Given the description of an element on the screen output the (x, y) to click on. 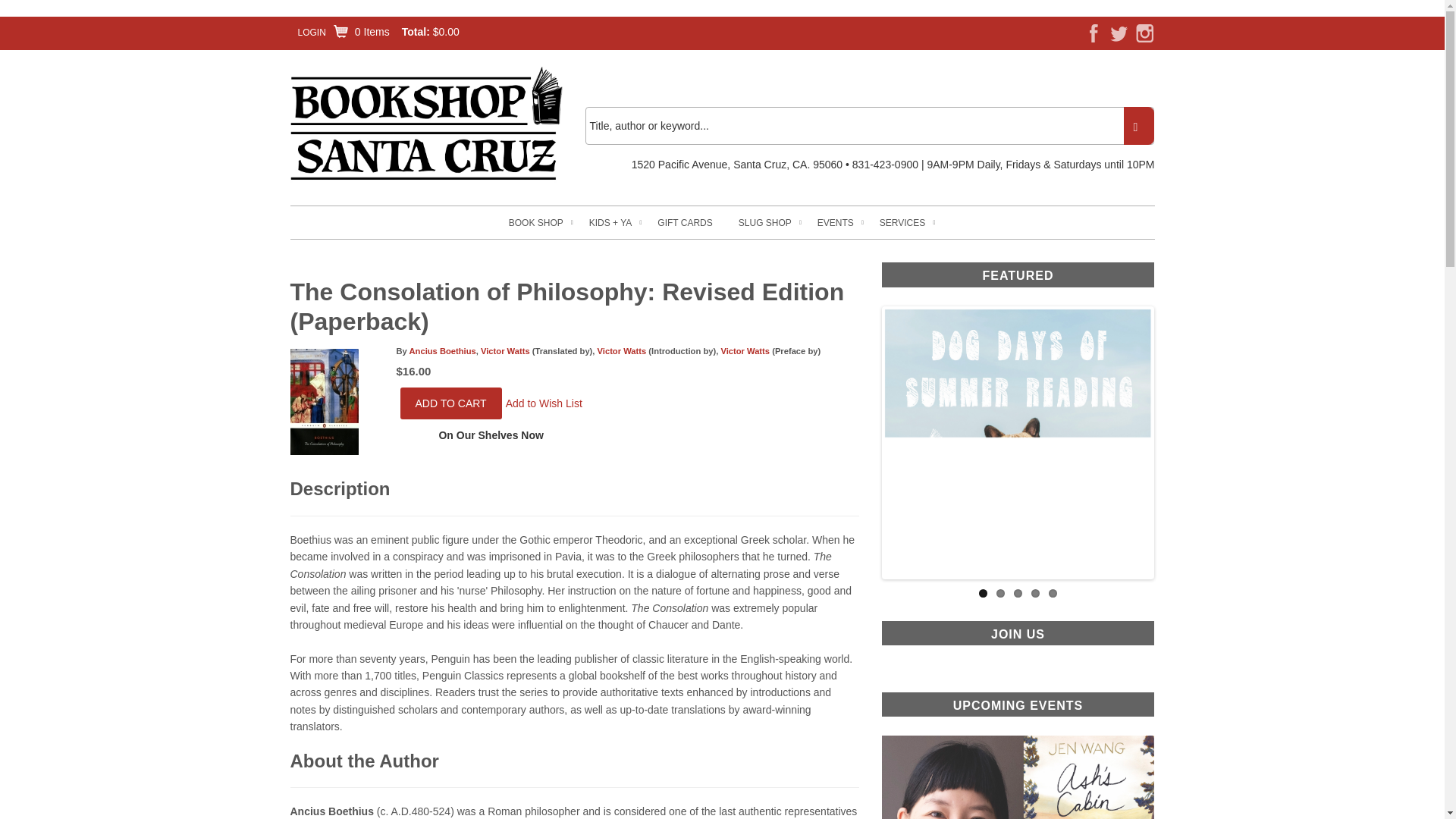
Home (425, 124)
BOOK SHOP (535, 222)
LOGIN (311, 32)
Add to Cart (451, 403)
Title, author or keyword... (869, 125)
